Given the description of an element on the screen output the (x, y) to click on. 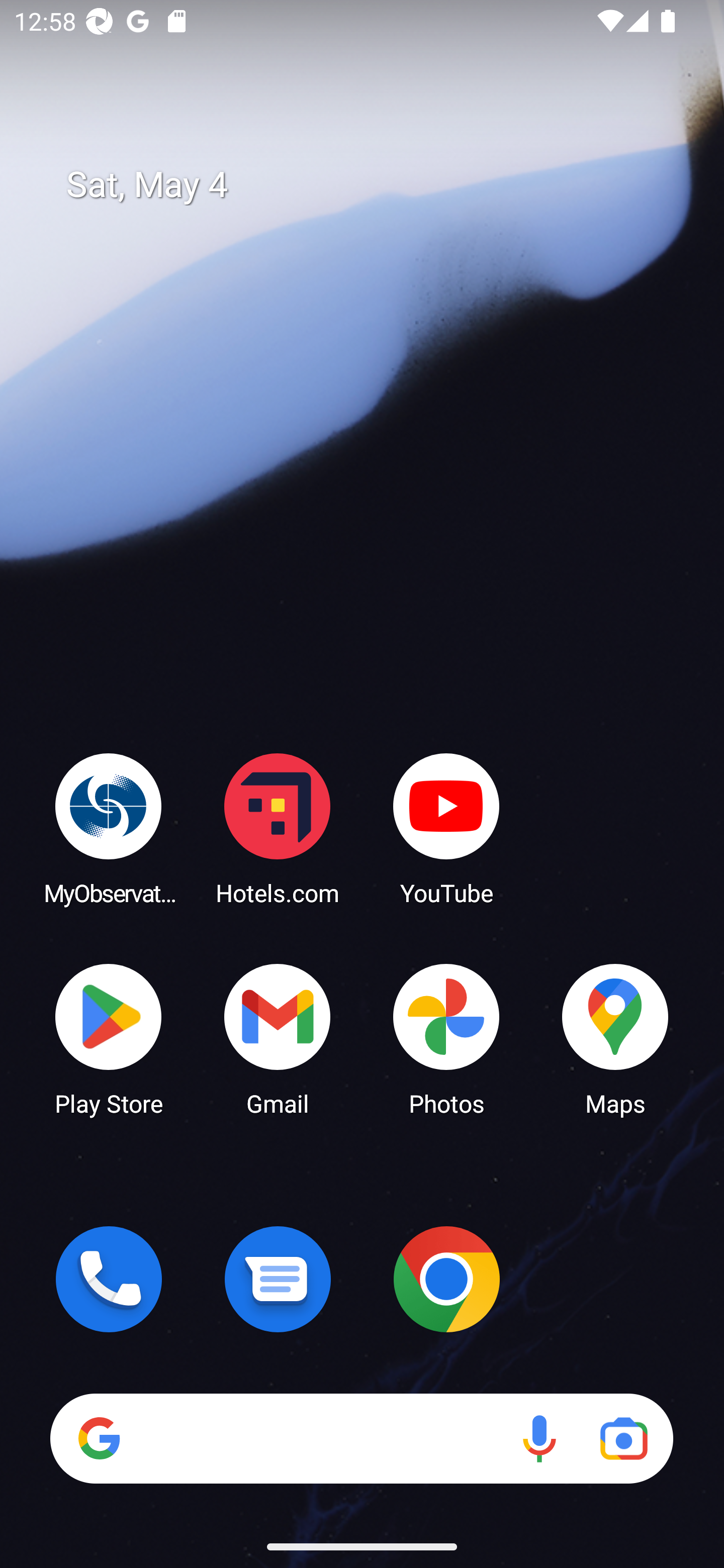
Sat, May 4 (375, 184)
MyObservatory (108, 828)
Hotels.com (277, 828)
YouTube (445, 828)
Play Store (108, 1038)
Gmail (277, 1038)
Photos (445, 1038)
Maps (615, 1038)
Phone (108, 1279)
Messages (277, 1279)
Chrome (446, 1279)
Search Voice search Google Lens (361, 1438)
Voice search (539, 1438)
Google Lens (623, 1438)
